Given the description of an element on the screen output the (x, y) to click on. 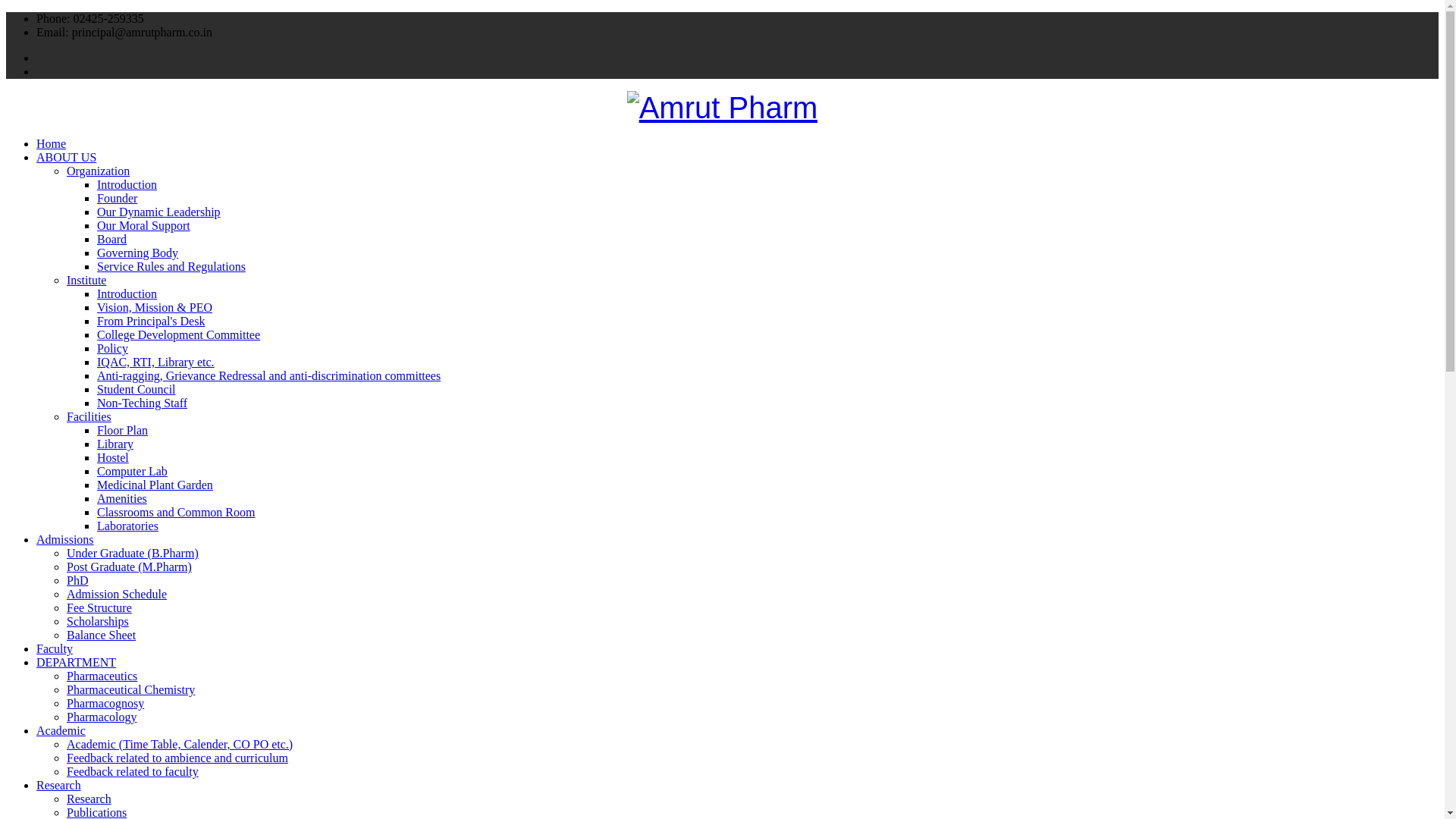
Laboratories (127, 525)
Home (50, 143)
Service Rules and Regulations (171, 266)
Computer Lab (132, 471)
ABOUT US (66, 156)
College Development Committee (178, 334)
Classrooms and Common Room (175, 512)
Admissions (65, 539)
Fee Structure (99, 607)
